Given the description of an element on the screen output the (x, y) to click on. 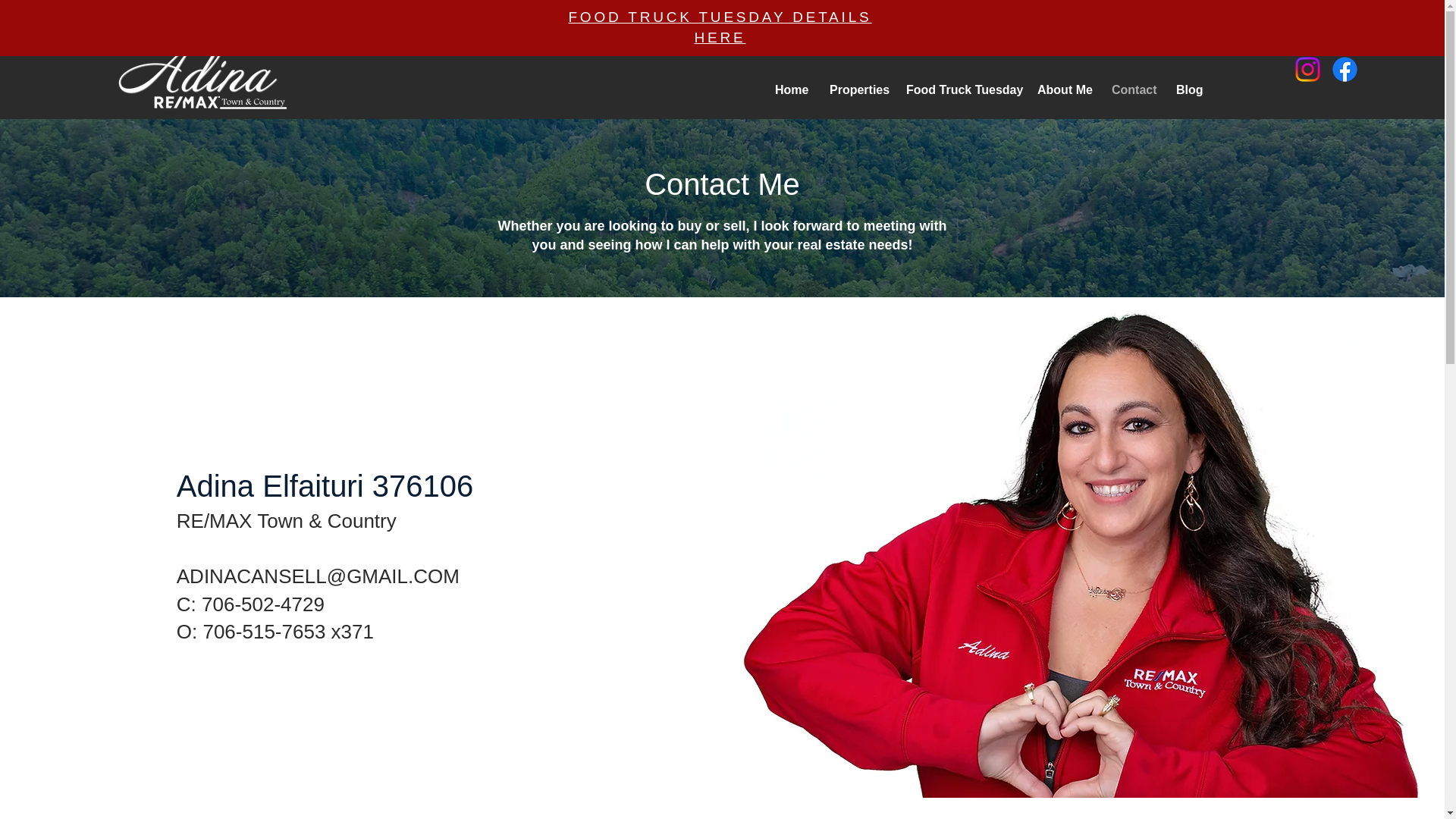
Contact (1132, 89)
Food Truck Tuesday (960, 89)
Blog (1187, 89)
About Me (1063, 89)
Home (790, 89)
FOOD TRUCK TUESDAY DETAILS HERE (718, 27)
